Given the description of an element on the screen output the (x, y) to click on. 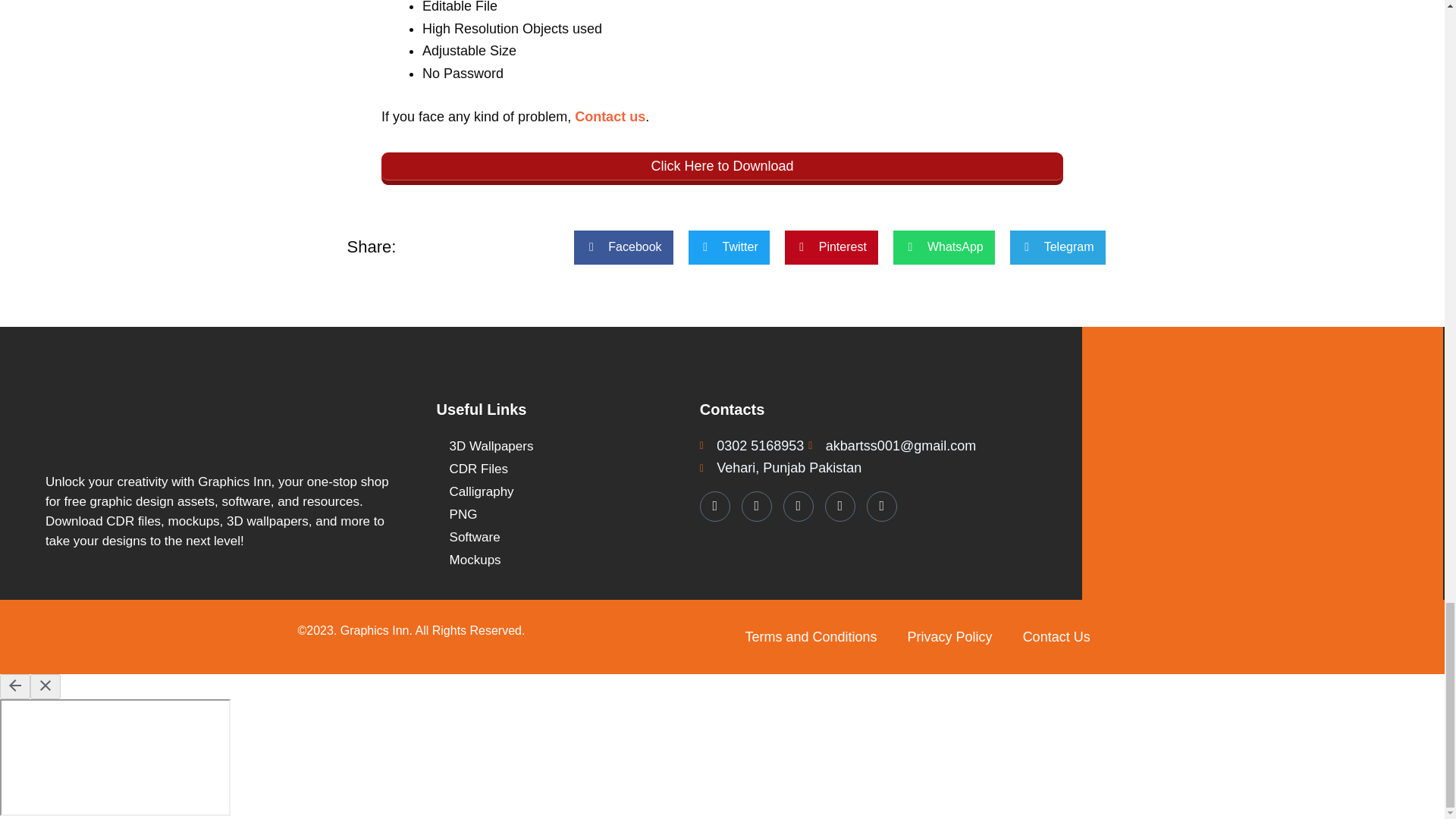
Contact us (610, 116)
Click Here to Download (721, 168)
CDR Files (560, 468)
PNG (560, 514)
Mockups (560, 559)
Software (560, 537)
Calligraphy (560, 491)
3D Wallpapers (560, 445)
